Given the description of an element on the screen output the (x, y) to click on. 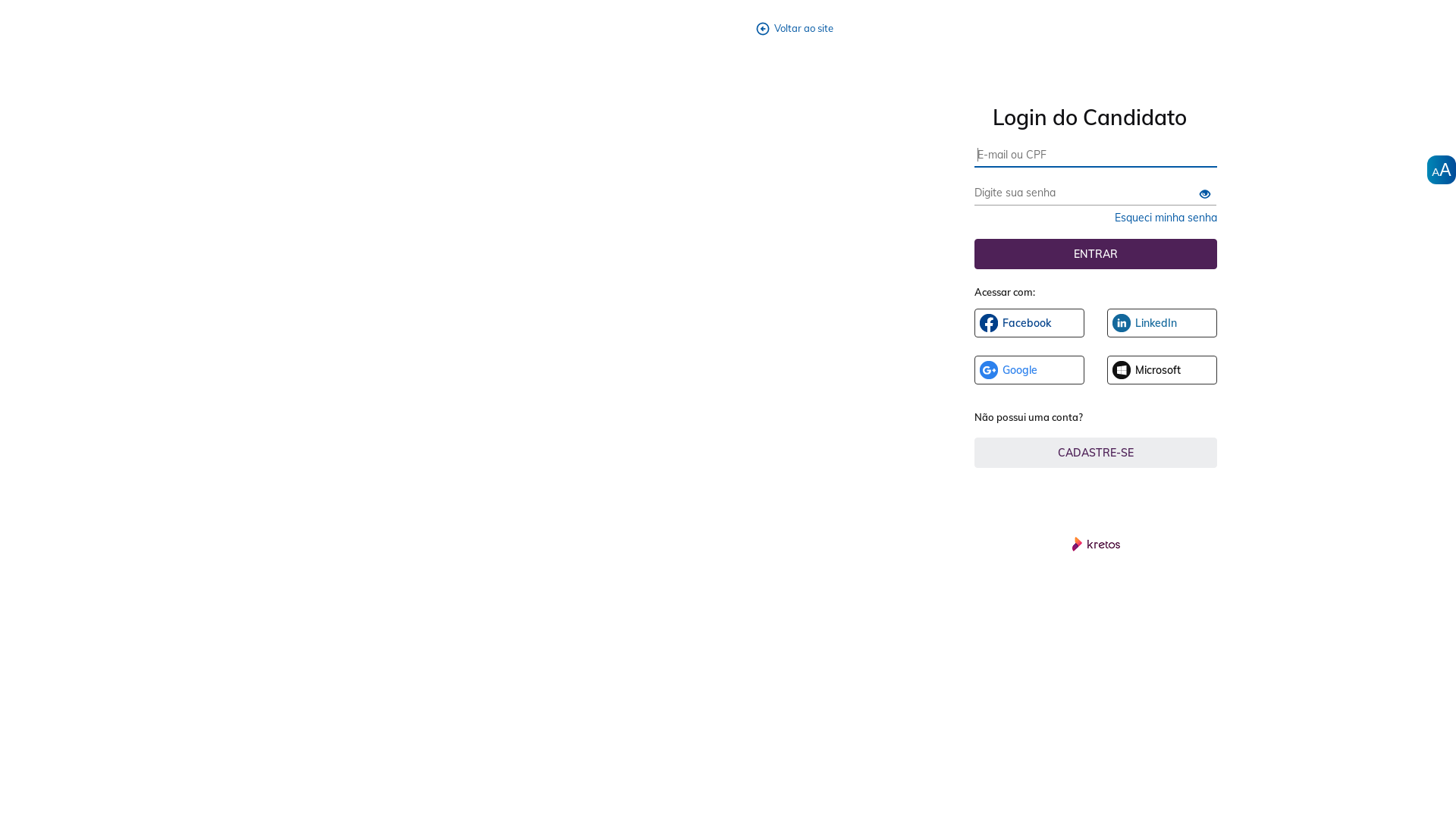
Entrar Element type: hover (1095, 253)
Cadastre-se Element type: hover (1095, 452)
LinkedIn Element type: hover (1162, 322)
GXM_revealpassword Element type: hover (1204, 194)
Google Element type: hover (1029, 369)
Voltar ao site Element type: hover (799, 28)
Facebook Element type: hover (1029, 322)
Esqueci minha senha Element type: text (1165, 217)
Microsoft Element type: hover (1162, 369)
